Given the description of an element on the screen output the (x, y) to click on. 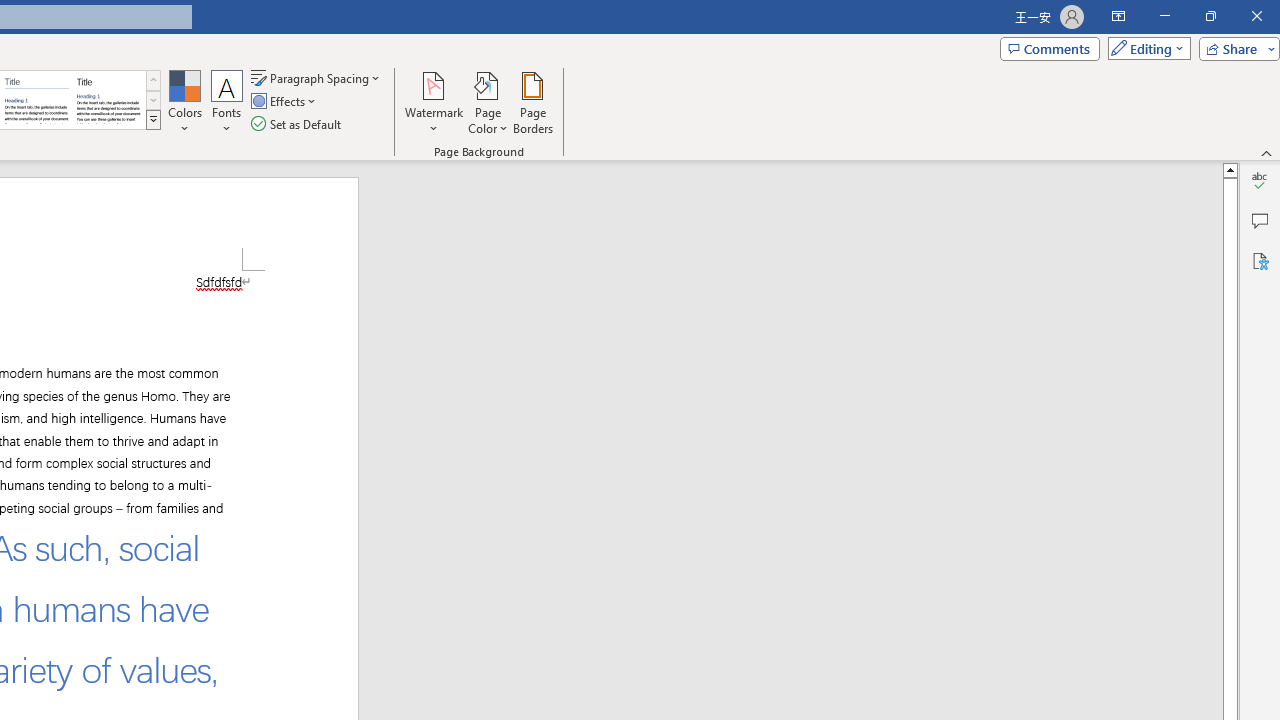
Word 2010 (36, 100)
Line up (1230, 169)
Paragraph Spacing (317, 78)
Word 2013 (108, 100)
Page Color (487, 102)
Editing (1144, 47)
Style Set (153, 120)
